Given the description of an element on the screen output the (x, y) to click on. 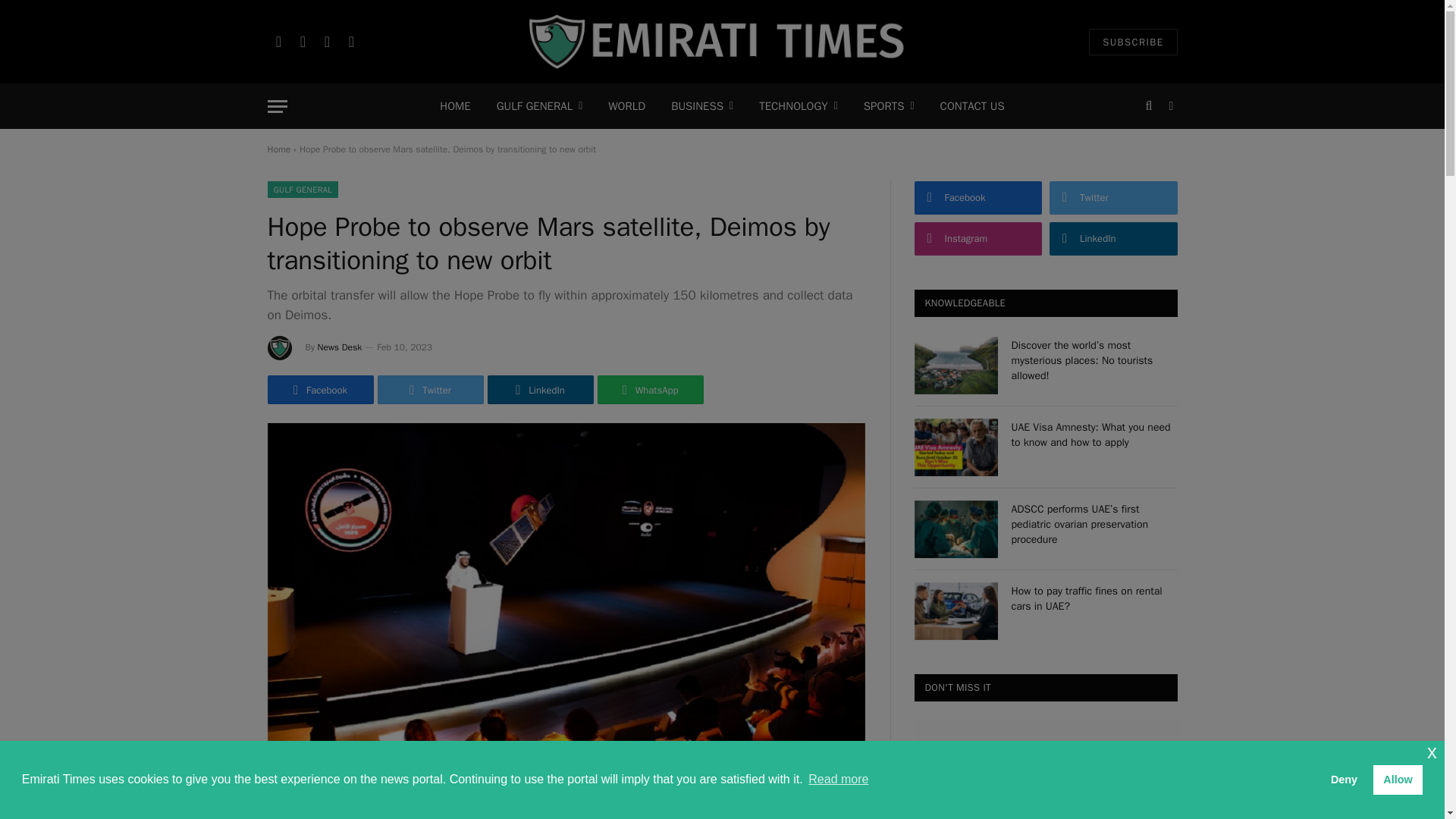
HOME (454, 105)
GULF GENERAL (539, 105)
SUBSCRIBE (1132, 41)
Emirati Times (722, 41)
